Given the description of an element on the screen output the (x, y) to click on. 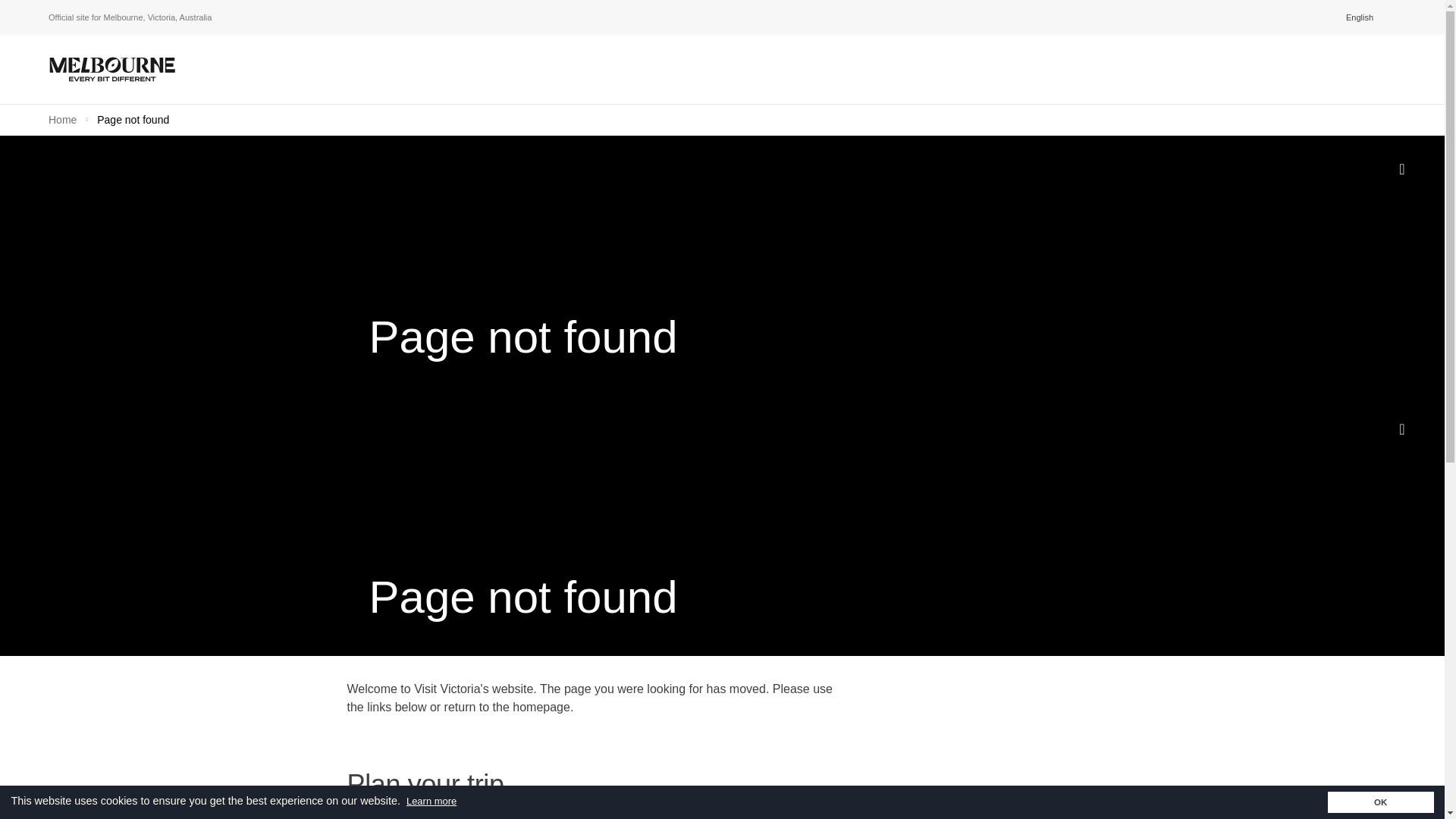
Home Page not found (722, 119)
English (1363, 17)
Home (64, 119)
